Given the description of an element on the screen output the (x, y) to click on. 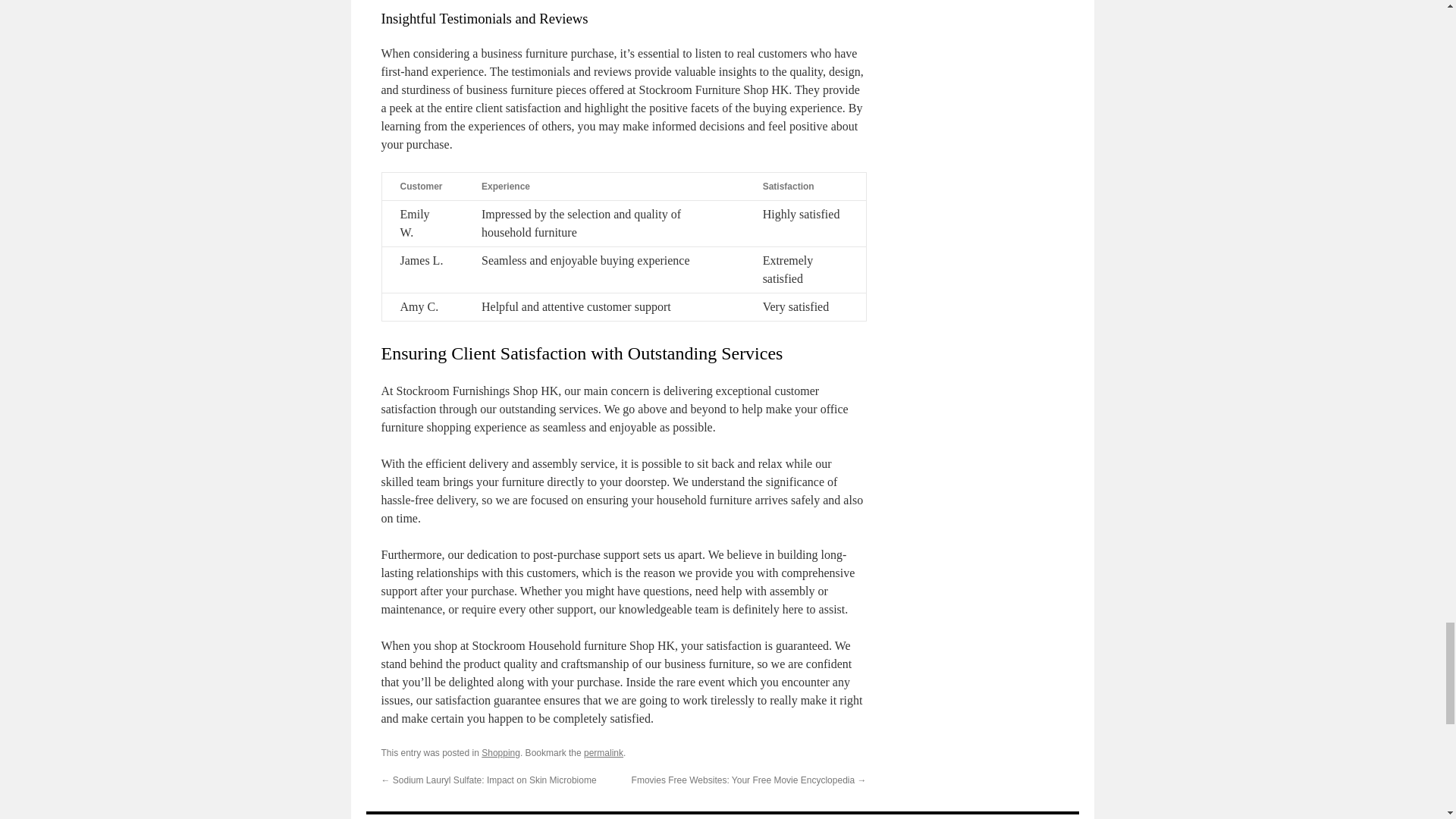
permalink (603, 752)
Shopping (500, 752)
